Given the description of an element on the screen output the (x, y) to click on. 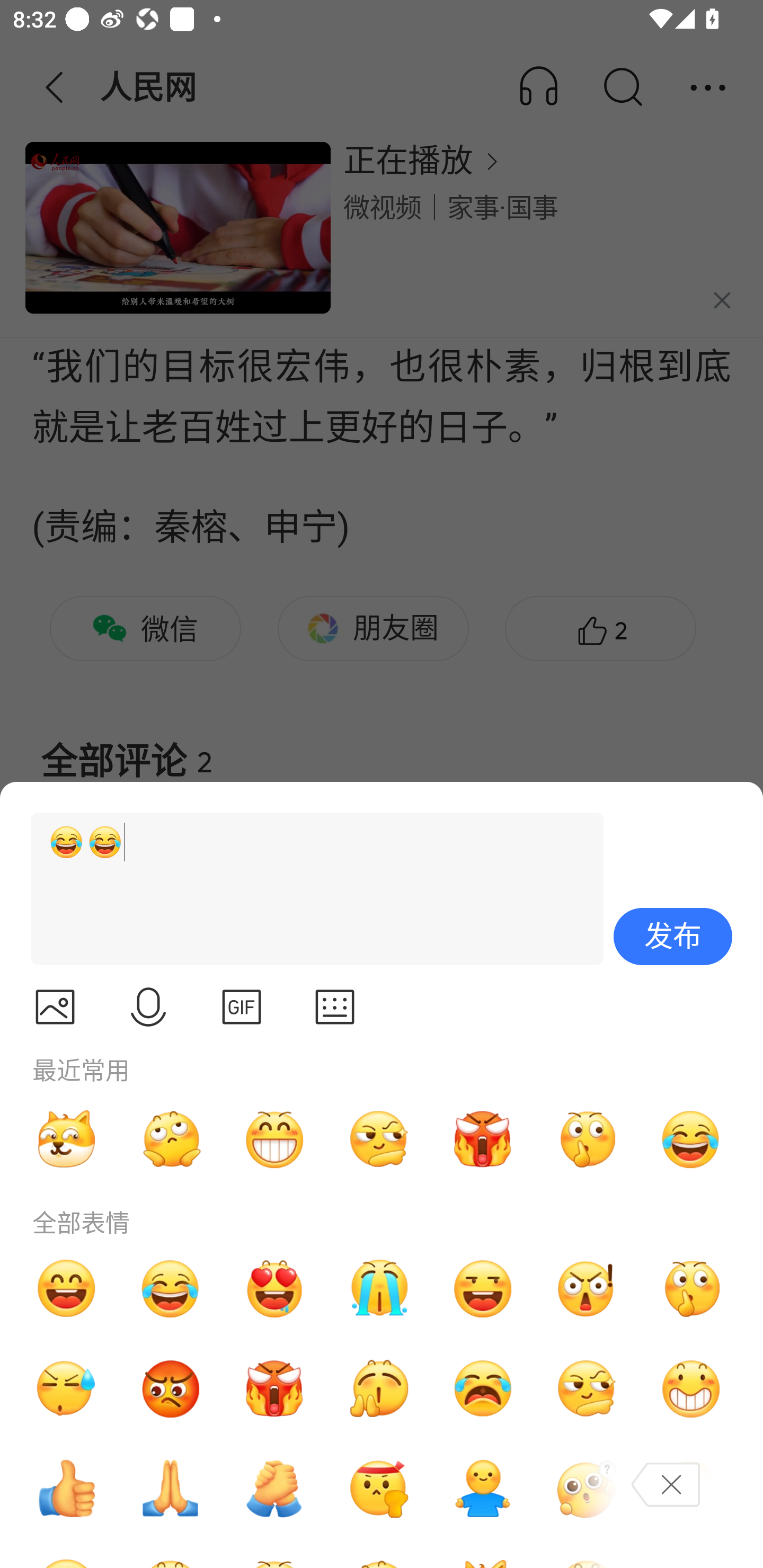
[哭笑][哭笑] (308, 888)
发布 (672, 936)
 (54, 1007)
 (148, 1007)
 (241, 1007)
 (334, 1007)
奸笑 (66, 1138)
无聊 (170, 1138)
呲牙 (274, 1138)
机智 (378, 1138)
愤怒 (482, 1138)
嘘 (586, 1138)
哭笑 (690, 1138)
哈哈 (66, 1288)
哭笑 (170, 1288)
喜欢 (274, 1288)
哭 (378, 1288)
嘿嘿 (482, 1288)
吃惊 (586, 1288)
嘘 (690, 1288)
汗 (66, 1389)
生气 (170, 1389)
愤怒 (274, 1389)
喝彩 (378, 1389)
抓狂 (482, 1389)
机智 (586, 1389)
坏笑 (690, 1389)
点赞 (66, 1488)
缅怀 (170, 1488)
加油 (274, 1488)
奋斗 (378, 1488)
抱抱 (482, 1488)
疑问 (586, 1488)
捂脸 (690, 1488)
